Given the description of an element on the screen output the (x, y) to click on. 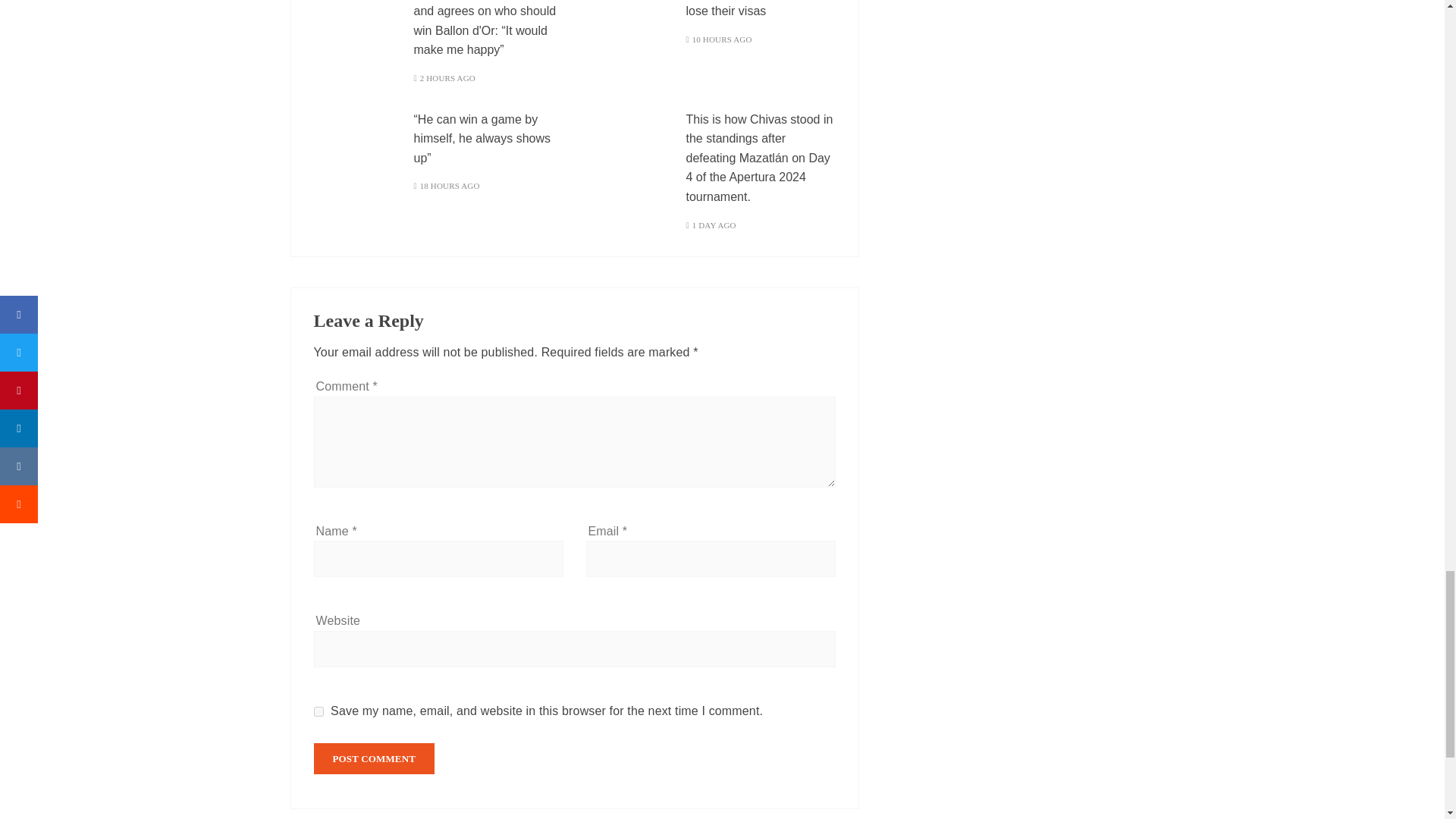
yes (318, 711)
Post Comment (374, 757)
Advertisement (1017, 69)
